Given the description of an element on the screen output the (x, y) to click on. 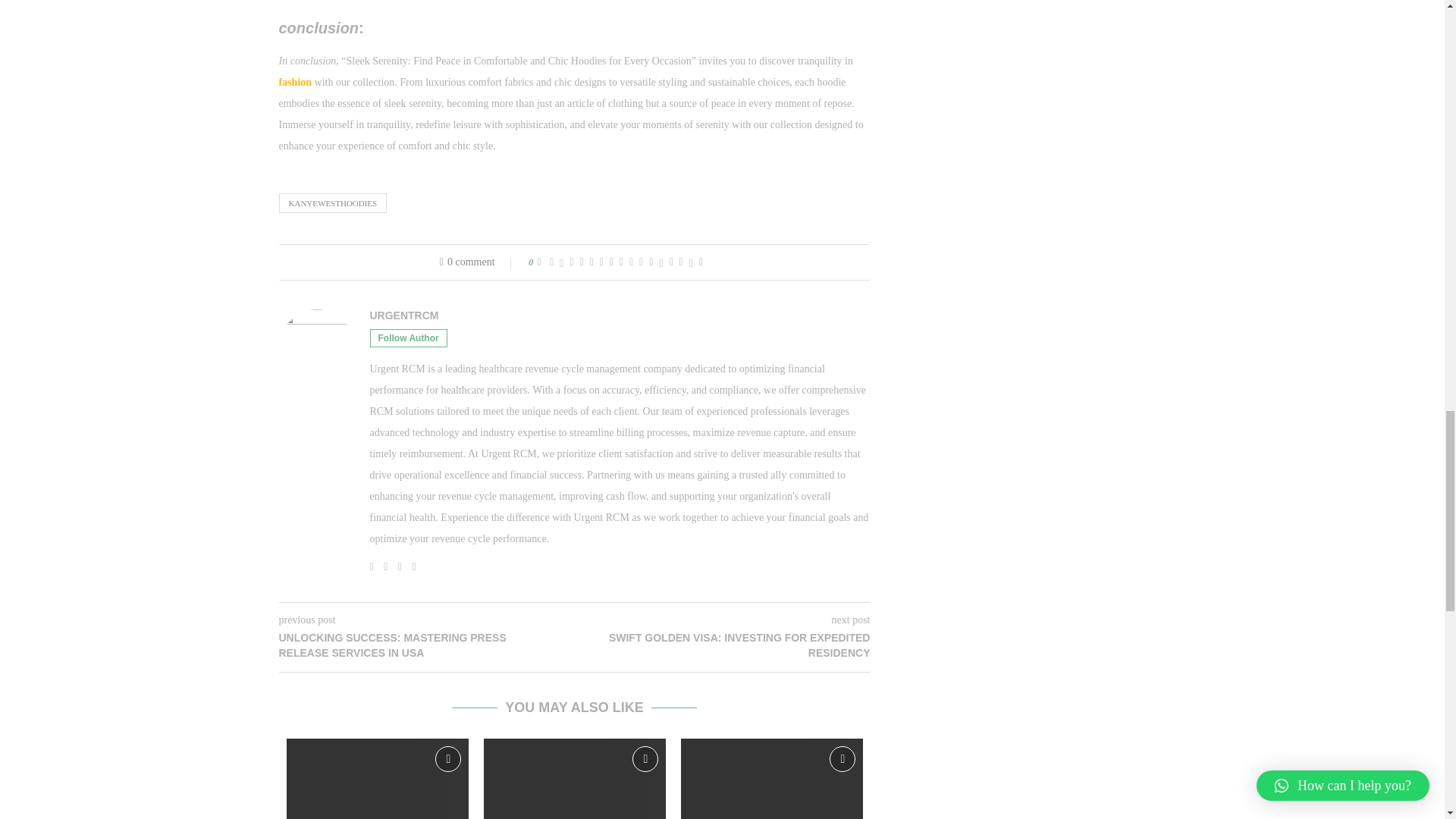
fashion (296, 81)
Follow Author (407, 338)
KANYEWESTHOODIES (333, 202)
Author UrgentRCM (404, 315)
URGENTRCM (404, 315)
How Professional Carpet Cleaning Helps Manage Mold Allergies (377, 778)
